Given the description of an element on the screen output the (x, y) to click on. 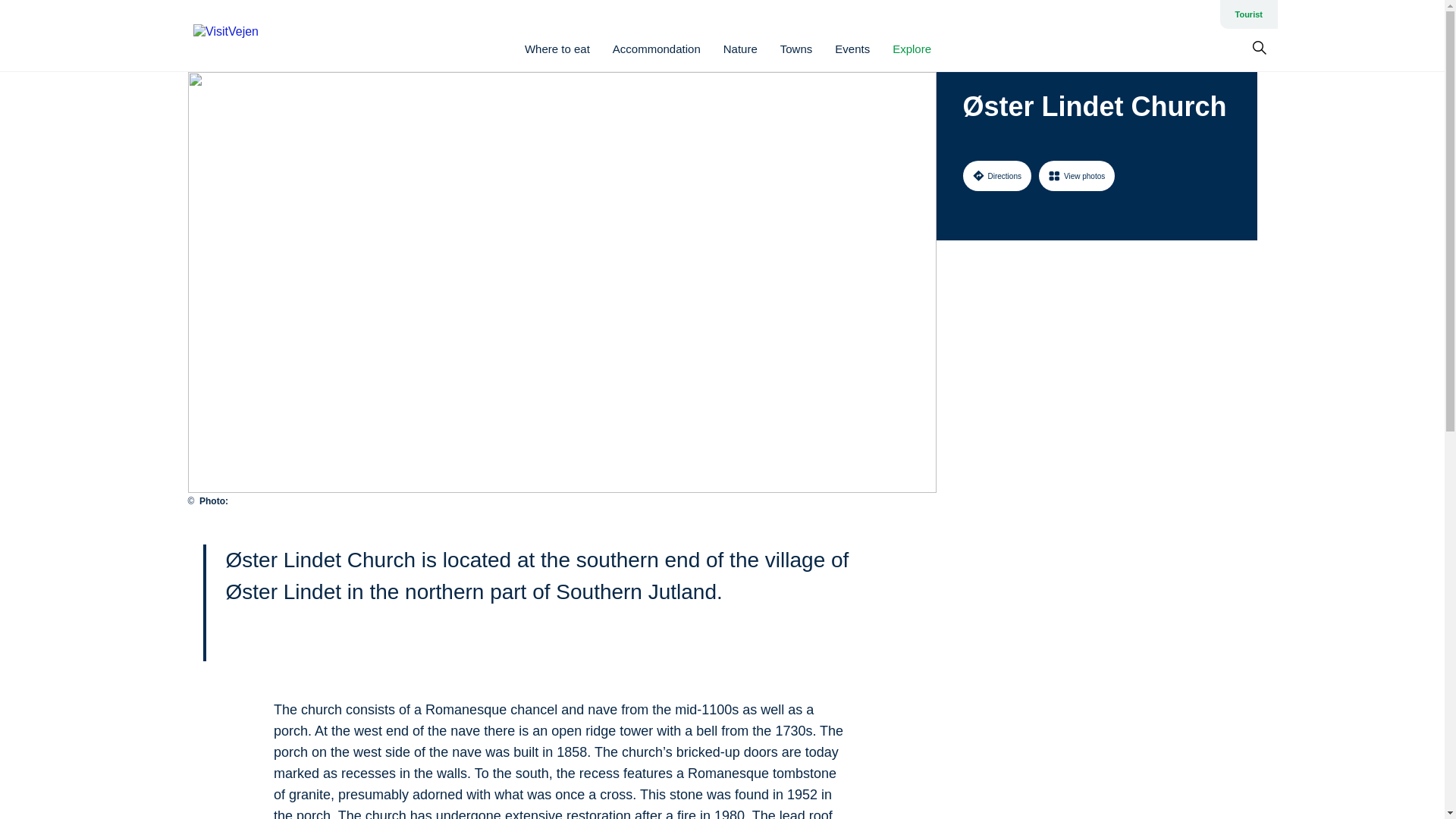
Explore (911, 48)
Directions (996, 175)
Tourist (1248, 14)
Accommondation (656, 48)
Nature (740, 48)
View photos (1077, 175)
Events (851, 48)
Go to homepage (253, 35)
Where to eat (556, 48)
Towns (796, 48)
